Given the description of an element on the screen output the (x, y) to click on. 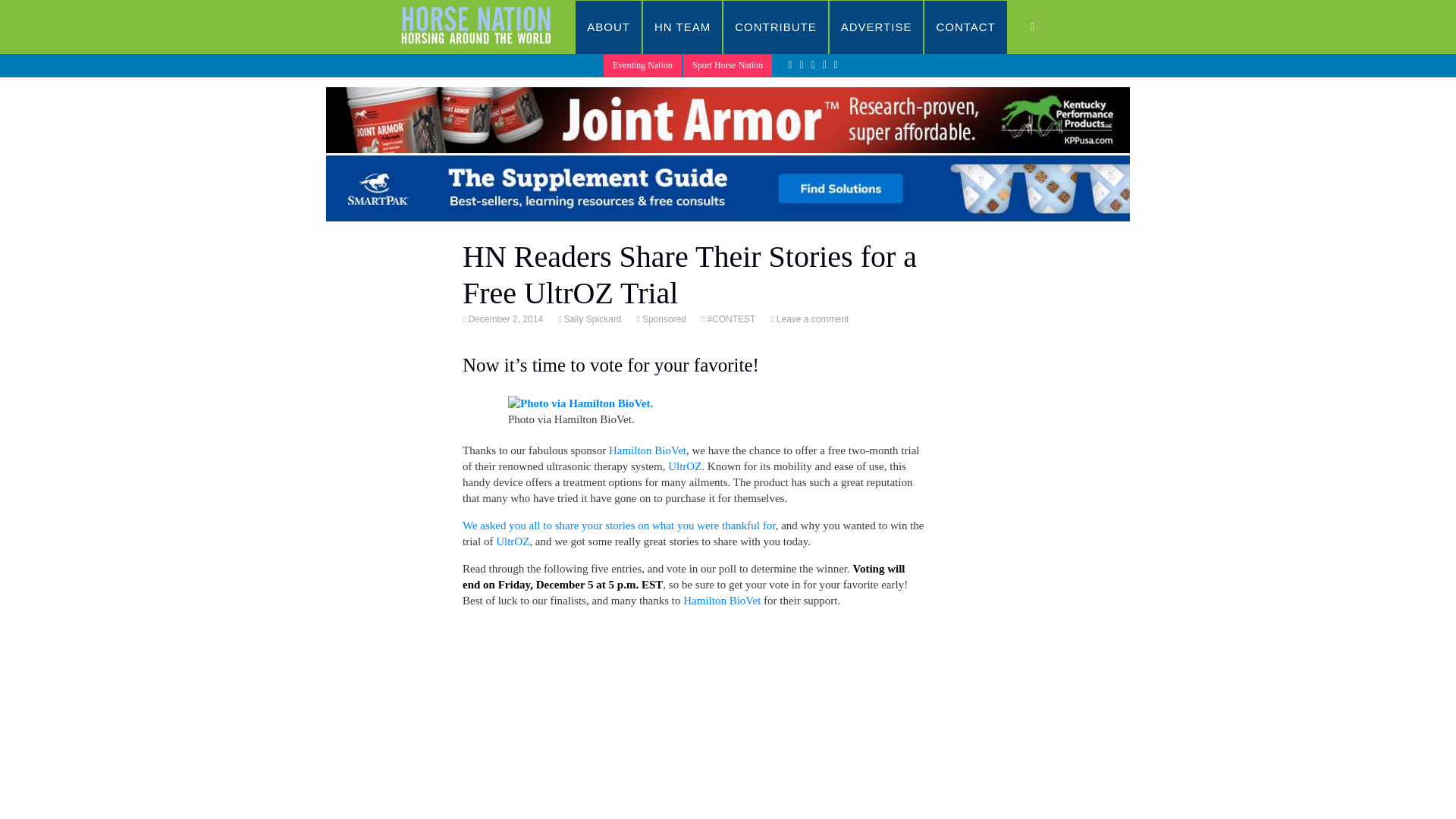
ADVERTISE (876, 27)
Leave a comment (811, 318)
UltrOZ (684, 466)
Eventing Nation (642, 65)
Sport Horse Nation (726, 65)
CONTRIBUTE (775, 27)
Sponsored (662, 318)
UltrOZ (512, 541)
Hamilton BioVet (646, 450)
ABOUT (608, 27)
Sally Spickard (591, 318)
Hamilton BioVet (721, 600)
December 2, 2014 (504, 318)
SEARCH (1048, 27)
CONTACT (965, 27)
